Given the description of an element on the screen output the (x, y) to click on. 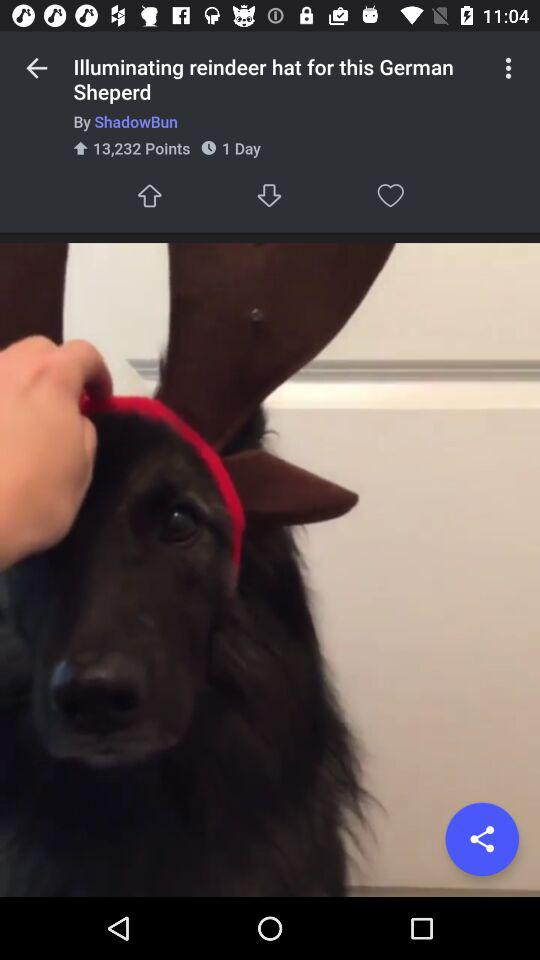
turn off icon next to 13,231 points icon (269, 195)
